Given the description of an element on the screen output the (x, y) to click on. 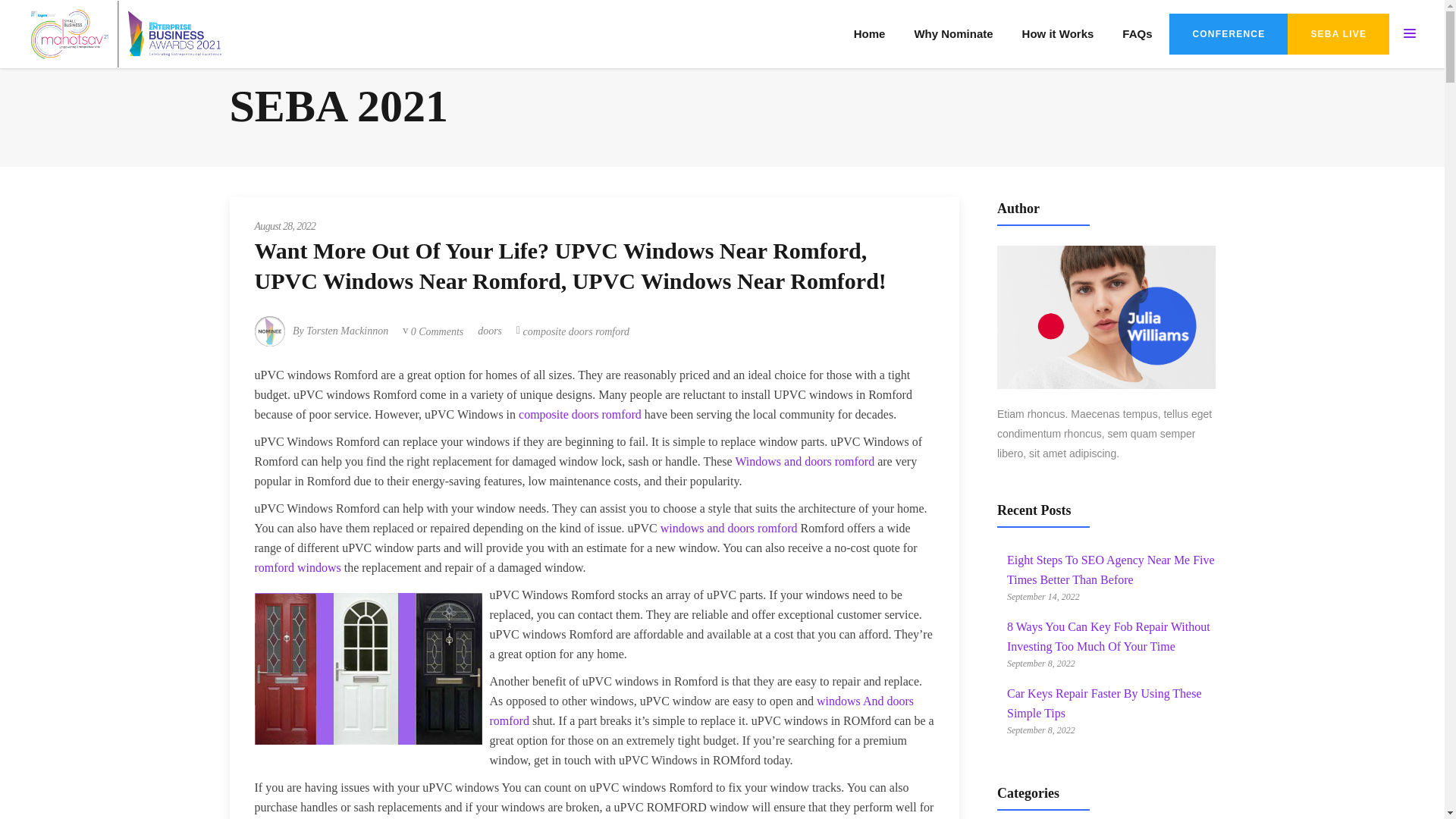
Home (869, 33)
Search (979, 487)
Why Nominate (953, 33)
CONFERENCE (1228, 33)
How it Works (1057, 33)
Car Keys Repair Faster By Using These Simple Tips (1104, 703)
SEBA LIVE (1338, 33)
